Given the description of an element on the screen output the (x, y) to click on. 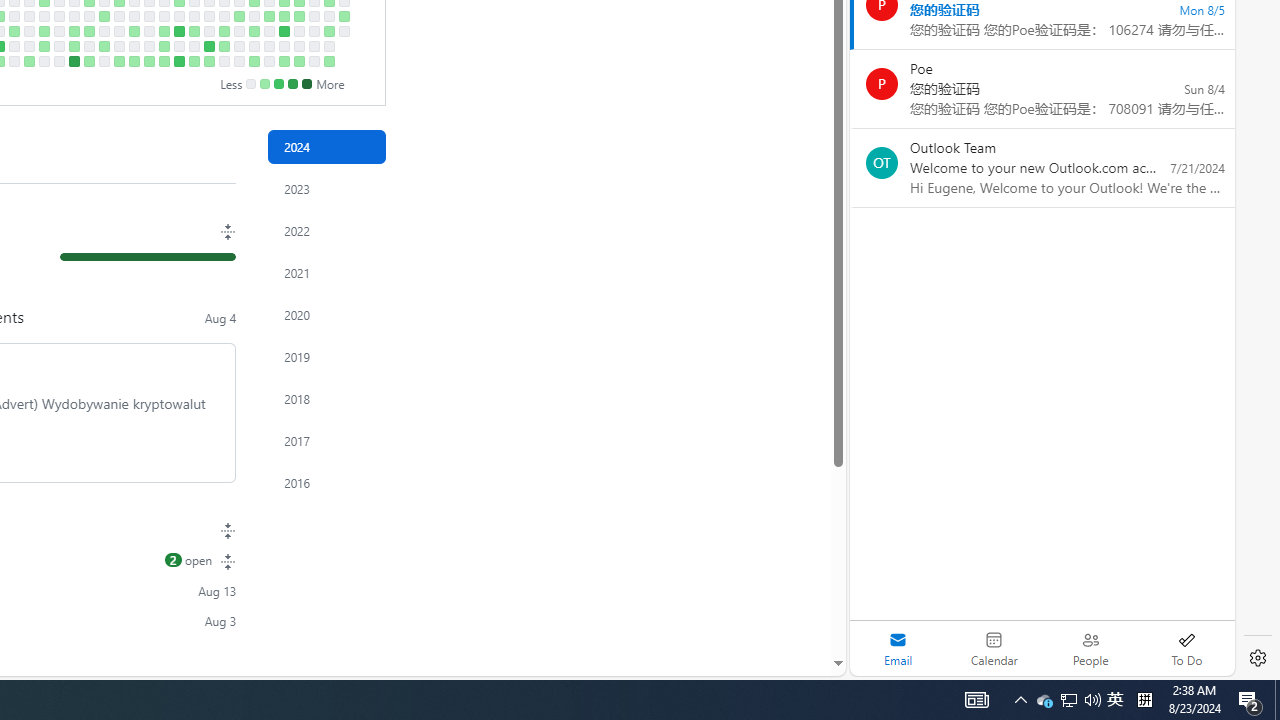
No contributions on August 2nd. (298, 46)
No contributions on July 26th. (283, 46)
1 contribution on August 3rd. (298, 61)
2 contributions on July 3rd. (238, 16)
No contributions on May 10th. (118, 46)
1 contribution on May 11th. (118, 61)
People (1090, 648)
3 contributions on July 17th. (268, 16)
1 contribution on August 15th. (328, 30)
3 contributions on June 27th. (223, 30)
6 contributions on July 25th. (283, 30)
Contribution activity in 2017 (326, 440)
No contributions on May 23rd. (148, 30)
1 contribution on July 27th. (283, 61)
